Given the description of an element on the screen output the (x, y) to click on. 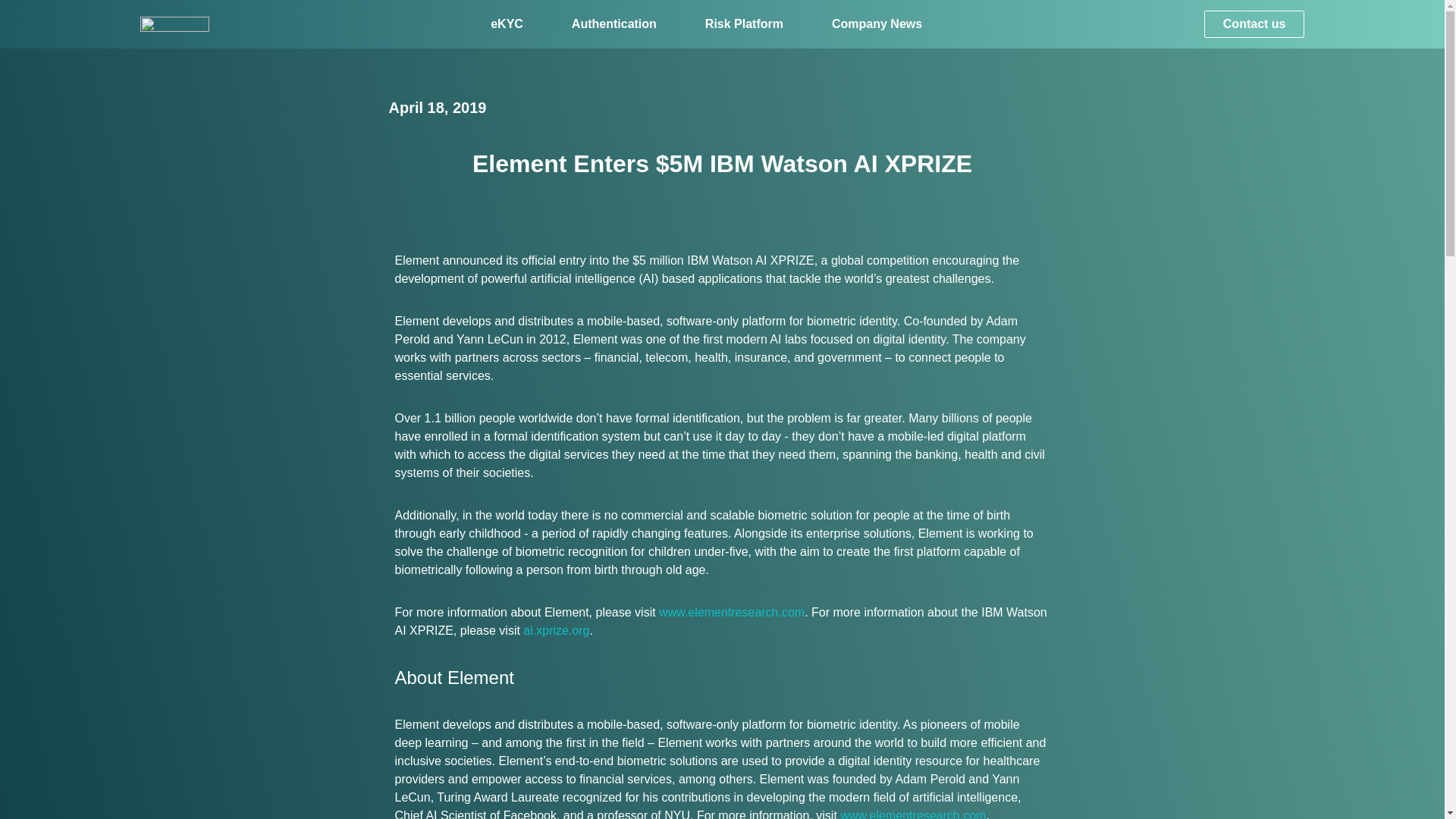
Contact us (1254, 23)
www.elementresearch.com (732, 612)
Company News (876, 23)
ai.xprize.org (555, 630)
Authentication (614, 23)
www.elementresearch.com (912, 814)
eKYC (506, 23)
Risk Platform (743, 23)
